Given the description of an element on the screen output the (x, y) to click on. 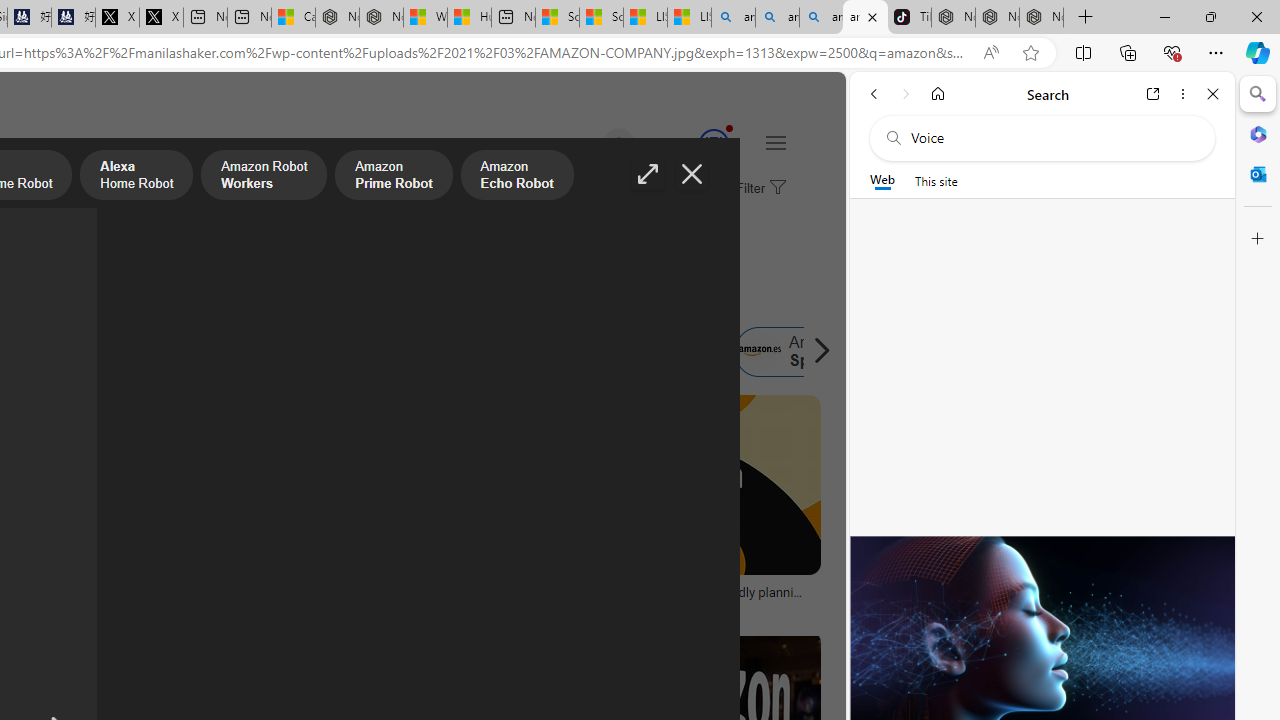
Alexa Home Robot (136, 177)
Open link in new tab (1153, 93)
Amazon Prime Membership (128, 351)
Filter (758, 189)
logopng.com.br (63, 605)
